Given the description of an element on the screen output the (x, y) to click on. 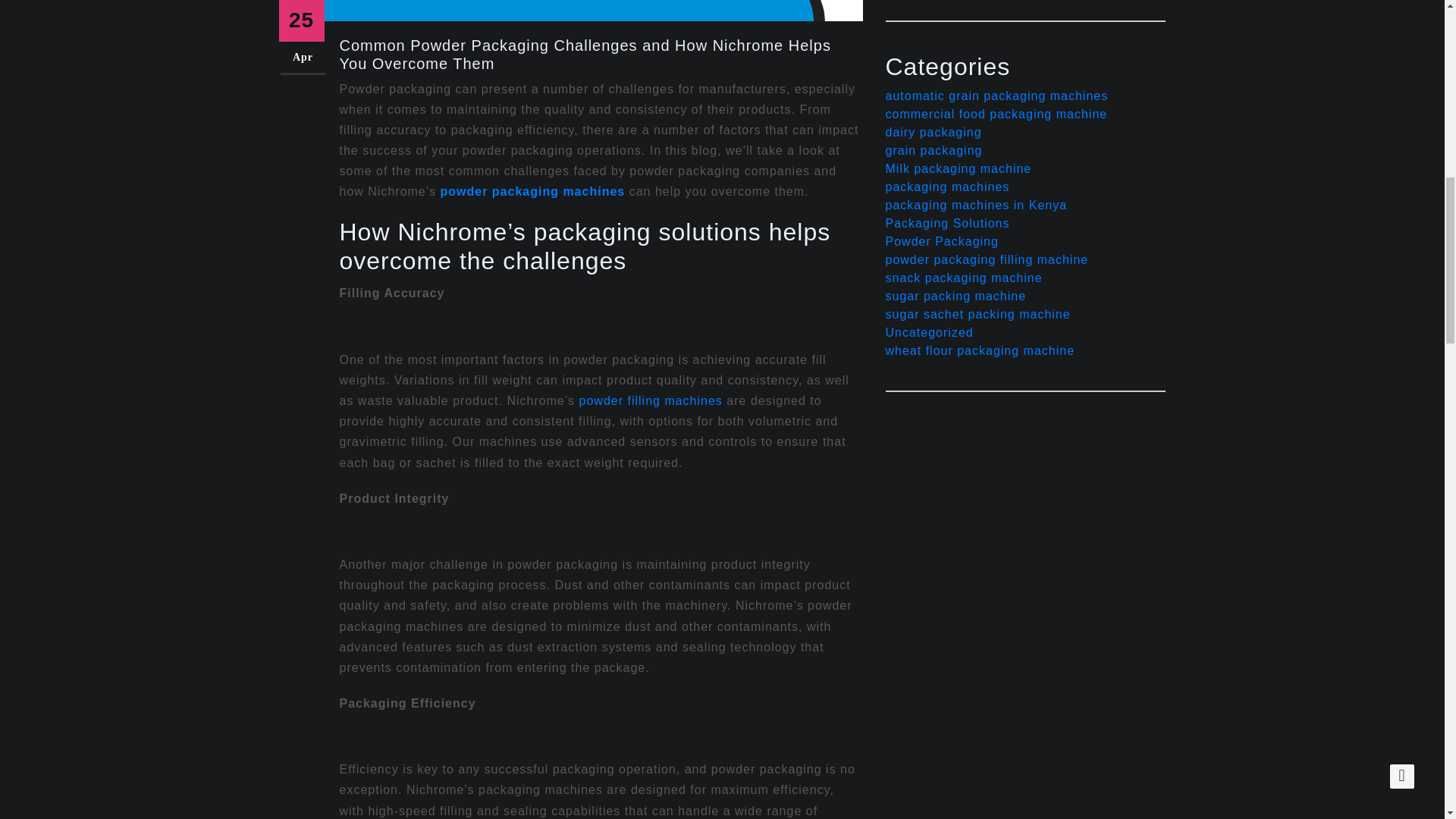
powder filling machines (650, 400)
powder packaging machines (531, 191)
